Given the description of an element on the screen output the (x, y) to click on. 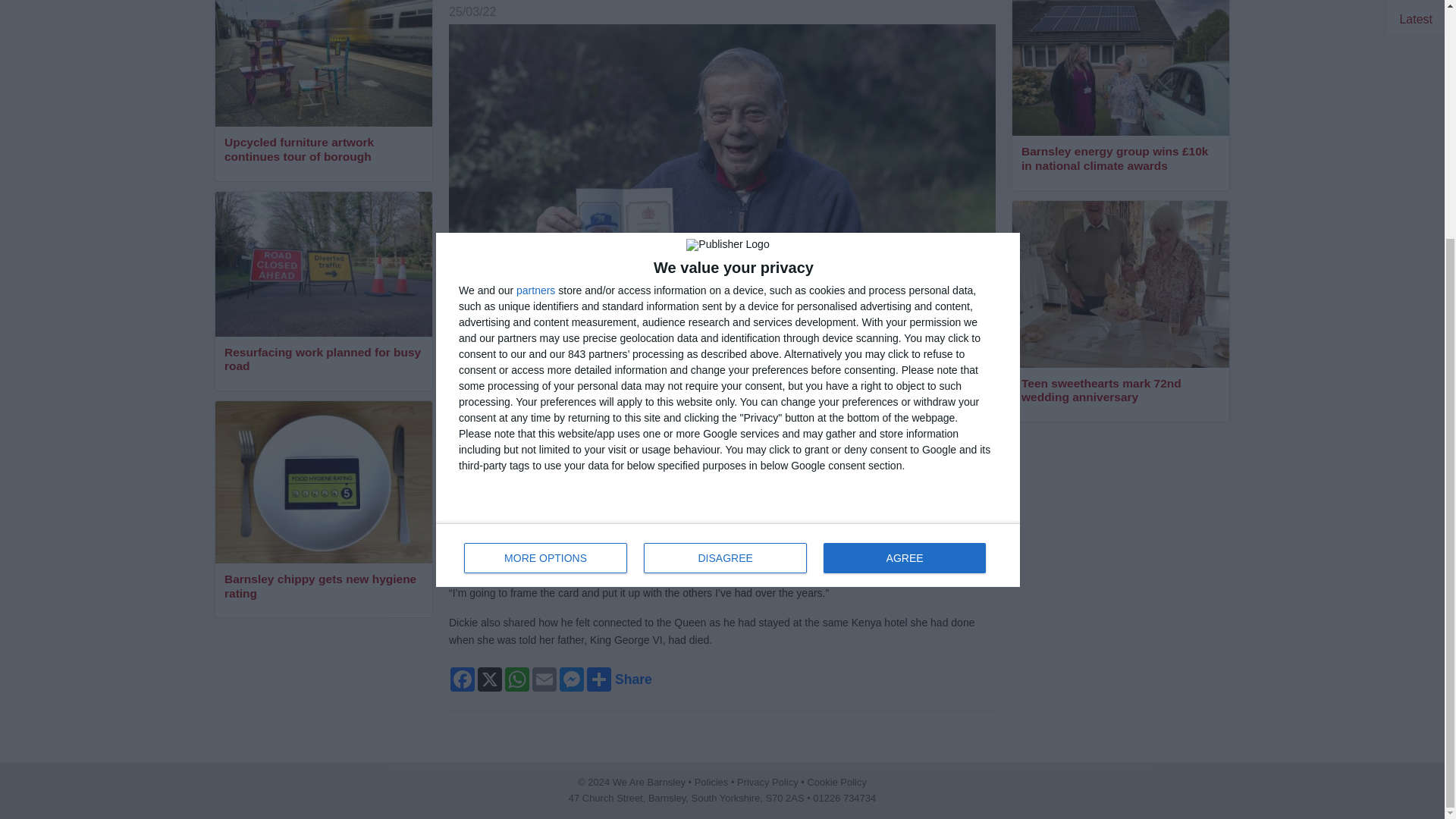
Email (727, 228)
WhatsApp (544, 679)
DISAGREE (517, 679)
Barnsley chippy gets new hygiene rating (724, 231)
Facebook (323, 587)
MORE OPTIONS (462, 679)
AGREE (545, 231)
X (904, 231)
Resurfacing work planned for busy road (489, 679)
